Given the description of an element on the screen output the (x, y) to click on. 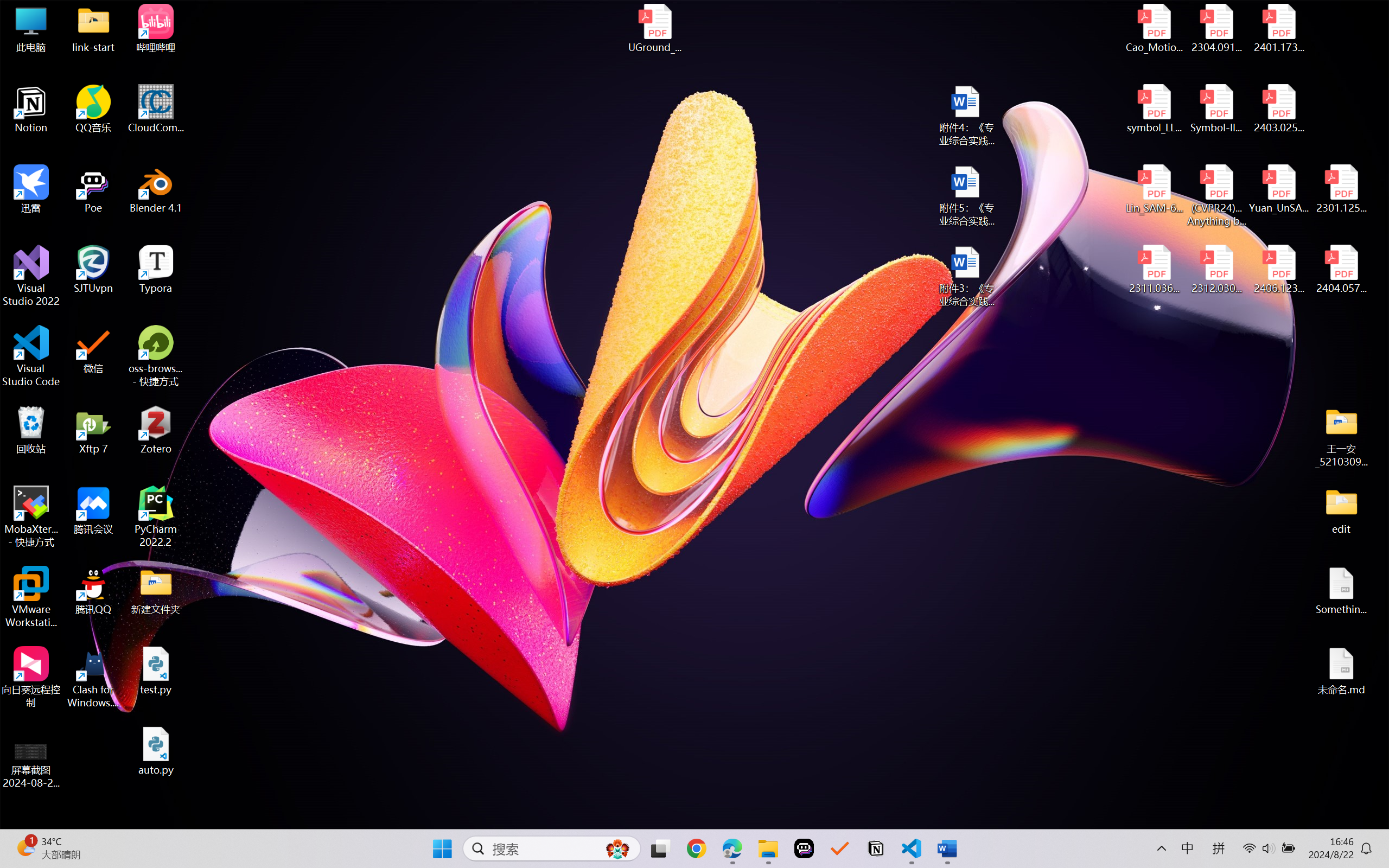
2312.03032v2.pdf (1216, 269)
2404.05719v1.pdf (1340, 269)
Something.md (1340, 591)
VMware Workstation Pro (31, 597)
2301.12597v3.pdf (1340, 189)
edit (1340, 510)
2403.02502v1.pdf (1278, 109)
